Given the description of an element on the screen output the (x, y) to click on. 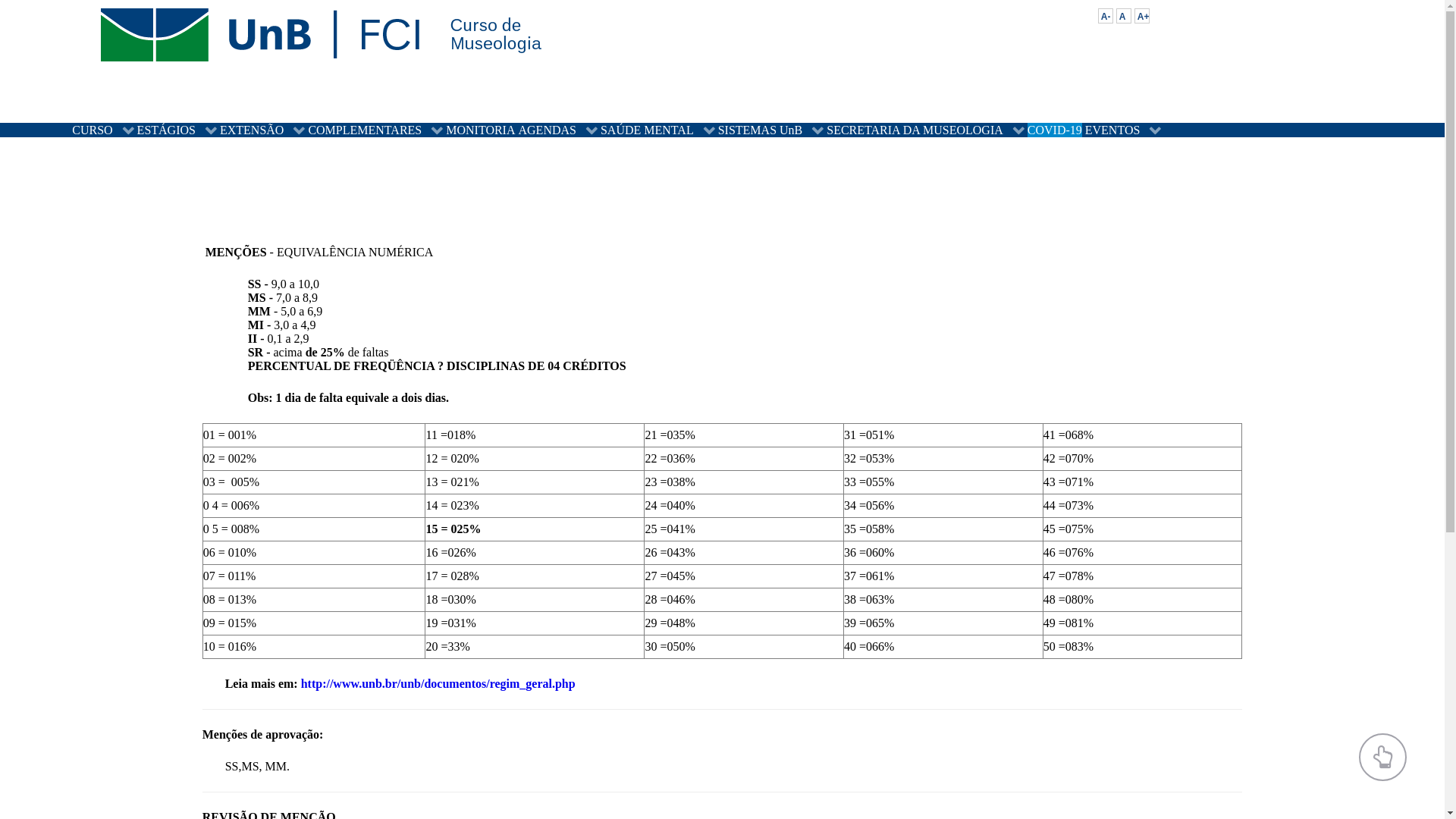
EVENTOS Element type: text (1123, 129)
A+ Element type: text (1141, 15)
MONITORIA Element type: text (479, 129)
A- Element type: text (1105, 15)
COVID-19 Element type: text (1054, 129)
SISTEMAS UnB Element type: text (771, 129)
SECRETARIA DA MUSEOLOGIA Element type: text (925, 129)
http://www.unb.br/unb/documentos/regim_geral.php Element type: text (438, 683)
A Element type: text (1123, 15)
